Given the description of an element on the screen output the (x, y) to click on. 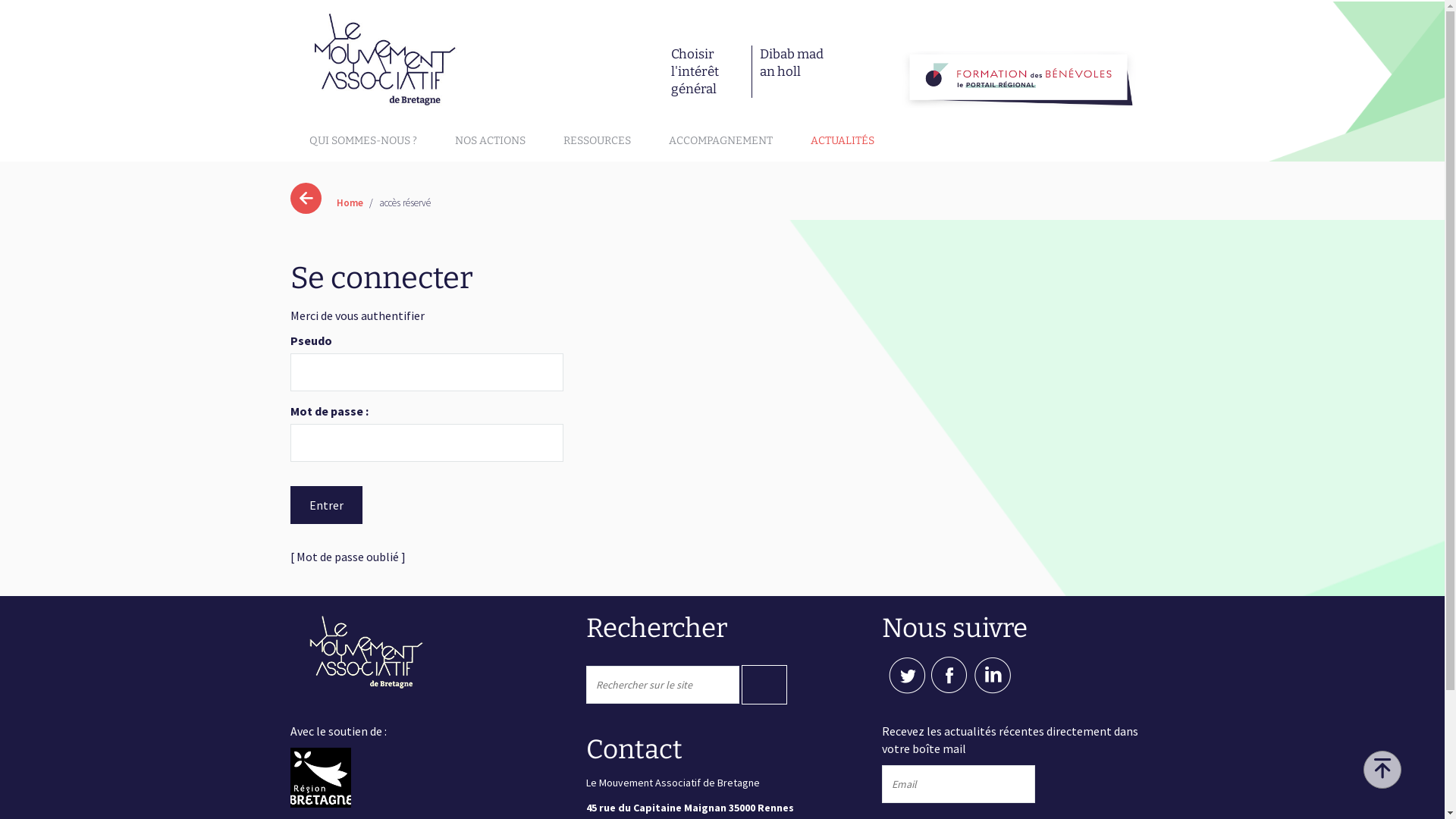
RESSOURCES Element type: text (596, 140)
Entrer Element type: text (325, 505)
ACCOMPAGNEMENT Element type: text (720, 140)
  Element type: text (1016, 690)
  Element type: text (960, 690)
NOS ACTIONS Element type: text (490, 140)
  Element type: text (1382, 769)
  Element type: text (916, 690)
  Element type: text (764, 684)
Home Element type: text (349, 202)
  Element type: text (1003, 690)
QUI SOMMES-NOUS ? Element type: text (363, 140)
